Given the description of an element on the screen output the (x, y) to click on. 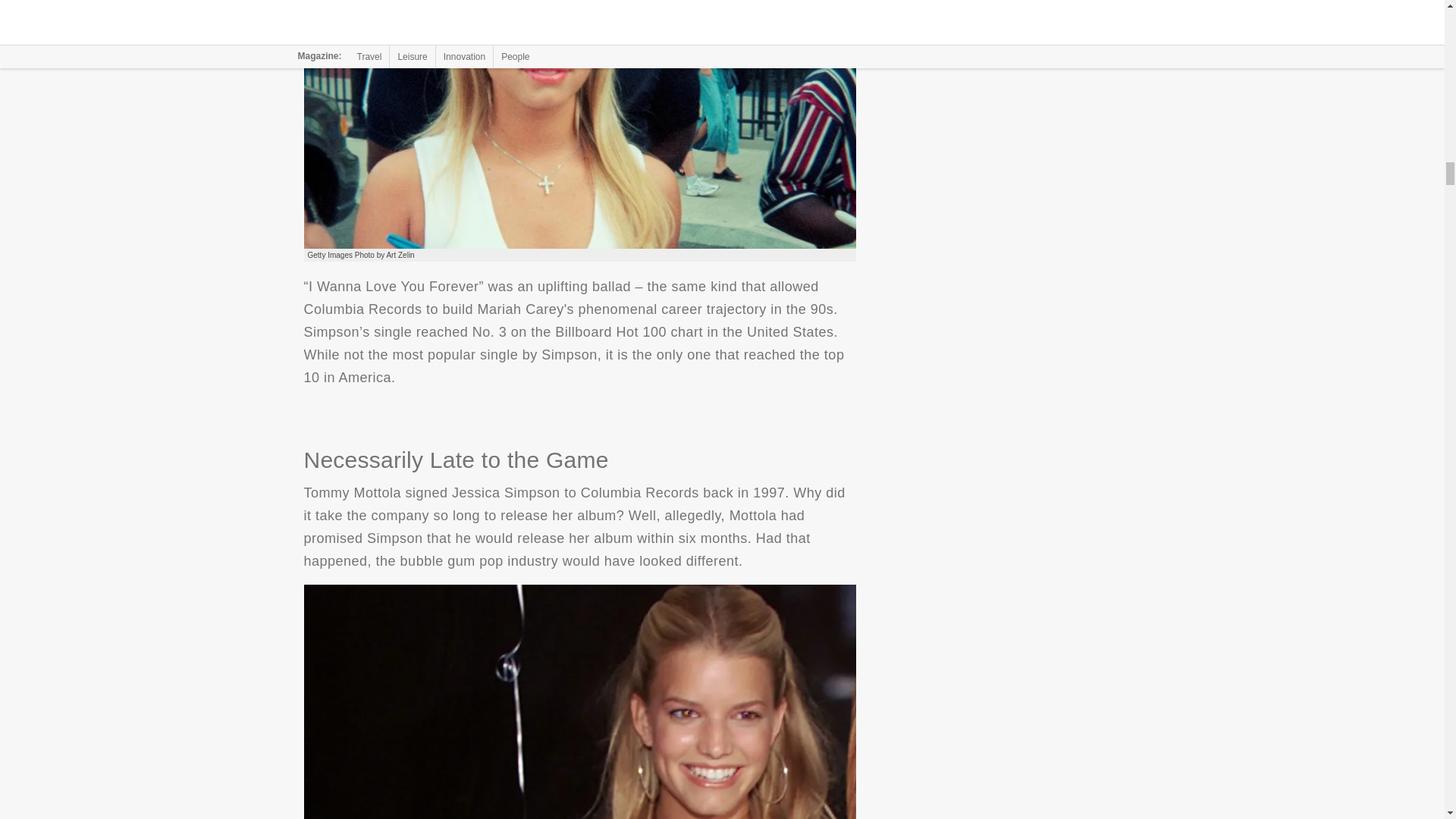
Necessarily Late to the Game (579, 701)
